Given the description of an element on the screen output the (x, y) to click on. 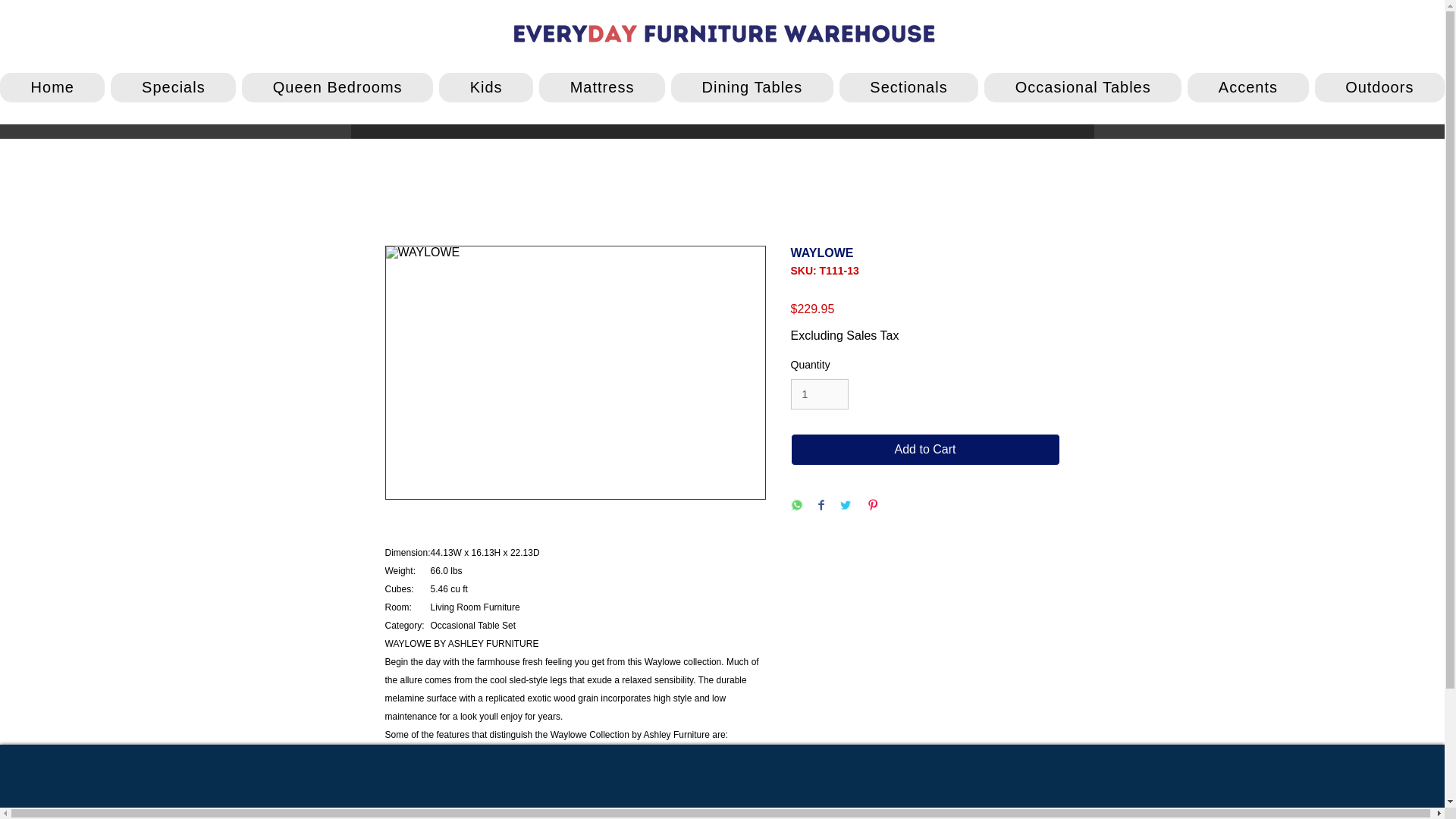
Sectionals (909, 87)
Kids (485, 87)
Mattress (601, 87)
Occasional Tables (1082, 87)
Specials (172, 87)
Home (52, 87)
Outdoors (1379, 87)
1 (818, 394)
Accents (1247, 87)
Add to Cart (924, 450)
Queen Bedrooms (336, 87)
Dining Tables (751, 87)
